Given the description of an element on the screen output the (x, y) to click on. 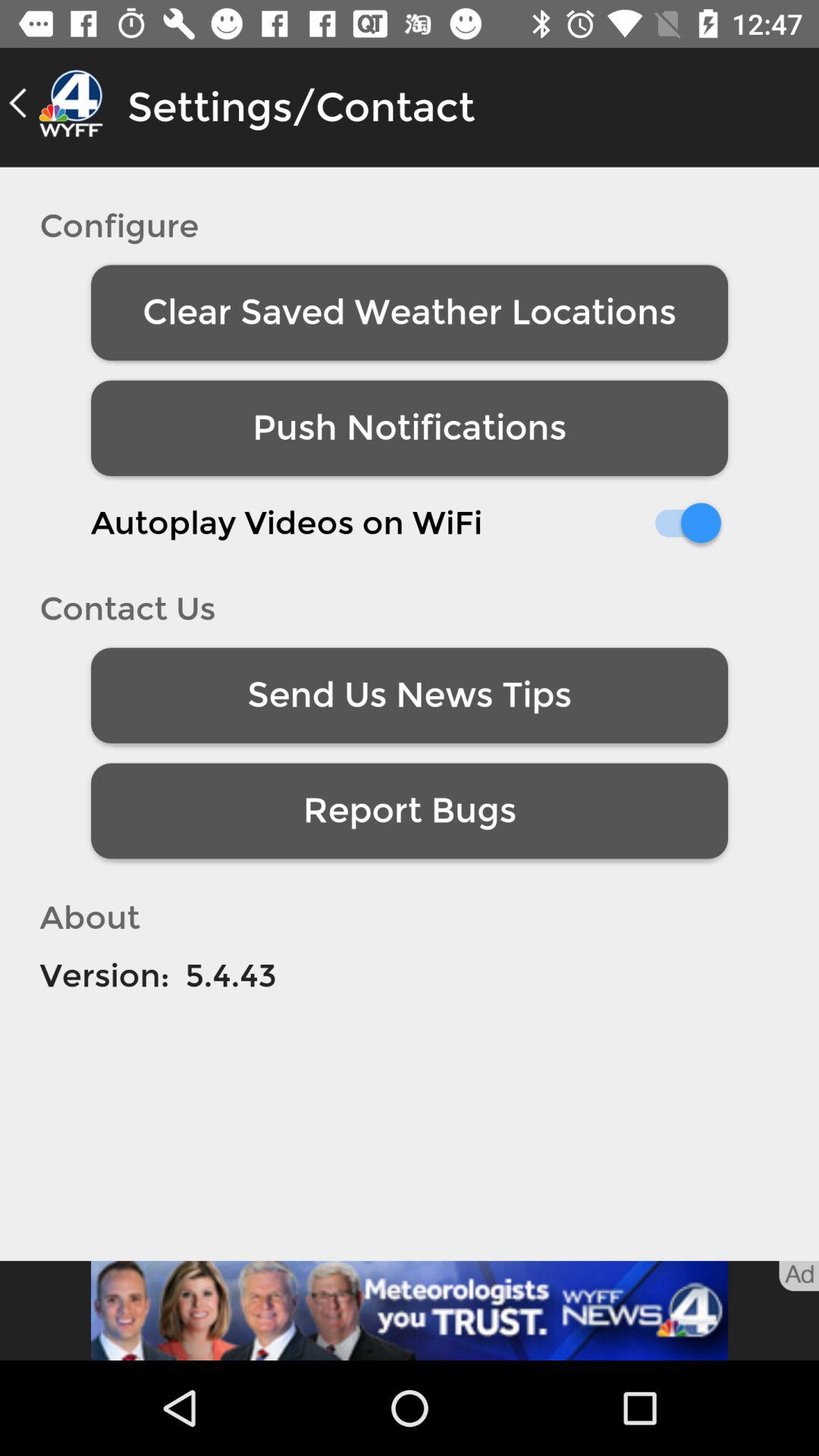
open advertisement (409, 1310)
